Given the description of an element on the screen output the (x, y) to click on. 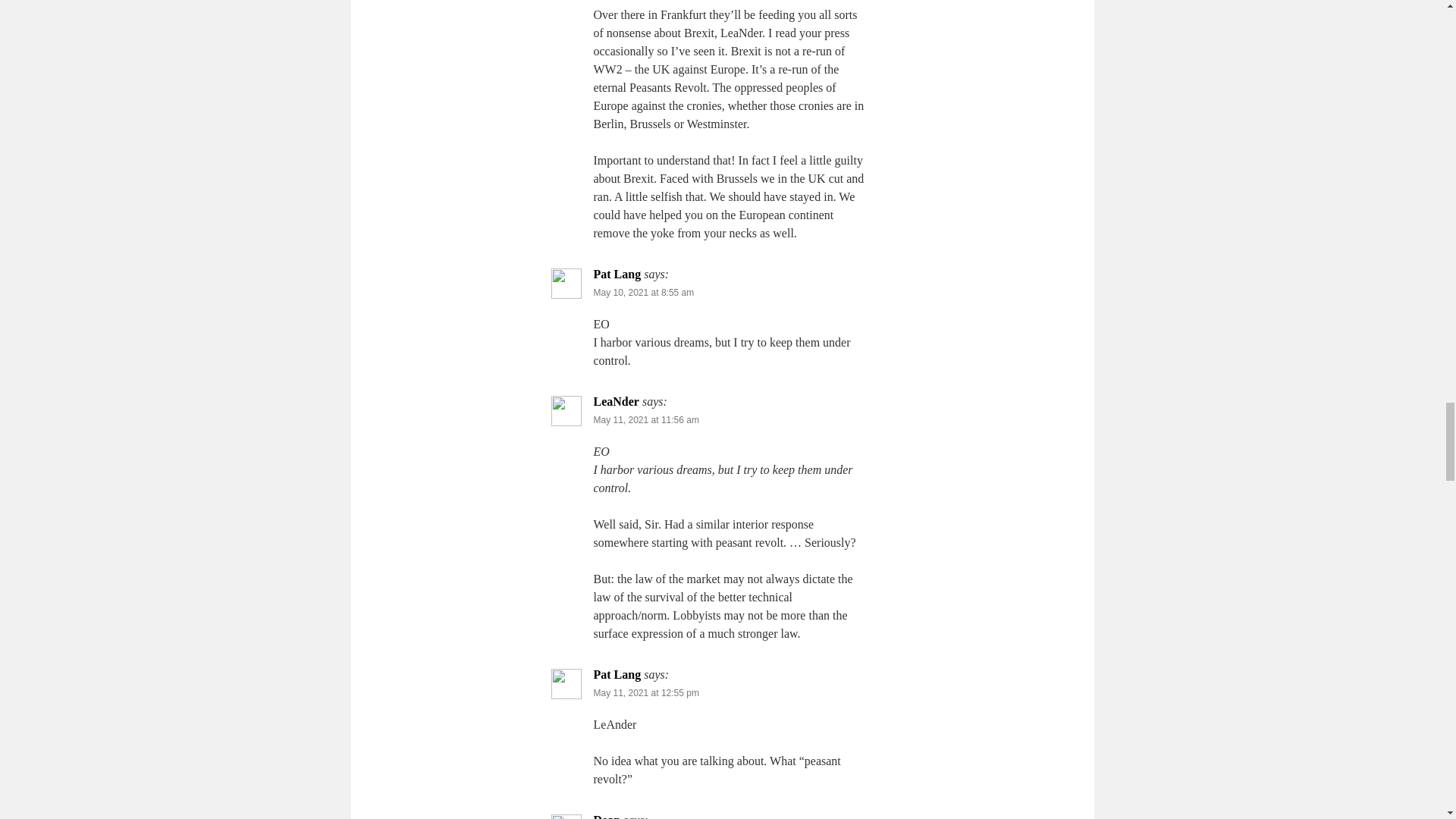
May 11, 2021 at 12:55 pm (645, 692)
May 10, 2021 at 8:55 am (643, 292)
May 11, 2021 at 11:56 am (645, 419)
